Given the description of an element on the screen output the (x, y) to click on. 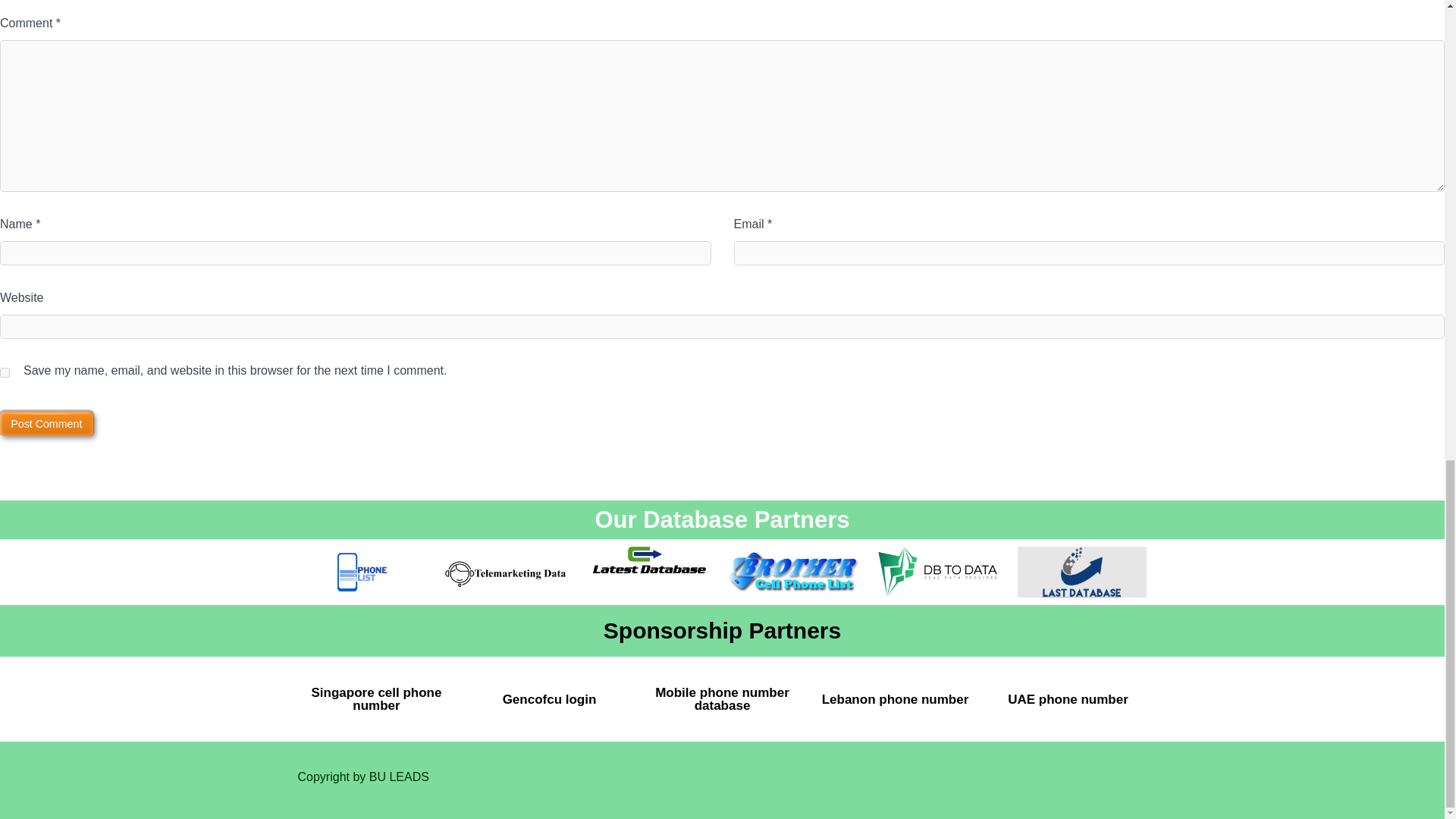
Last Database (1082, 572)
Post Comment (46, 422)
Telemarketing Data (505, 572)
DB To Data (938, 572)
yes (5, 372)
B Cell Phone List (794, 572)
Latest Mailing Database (649, 572)
Phone List (361, 572)
